Given the description of an element on the screen output the (x, y) to click on. 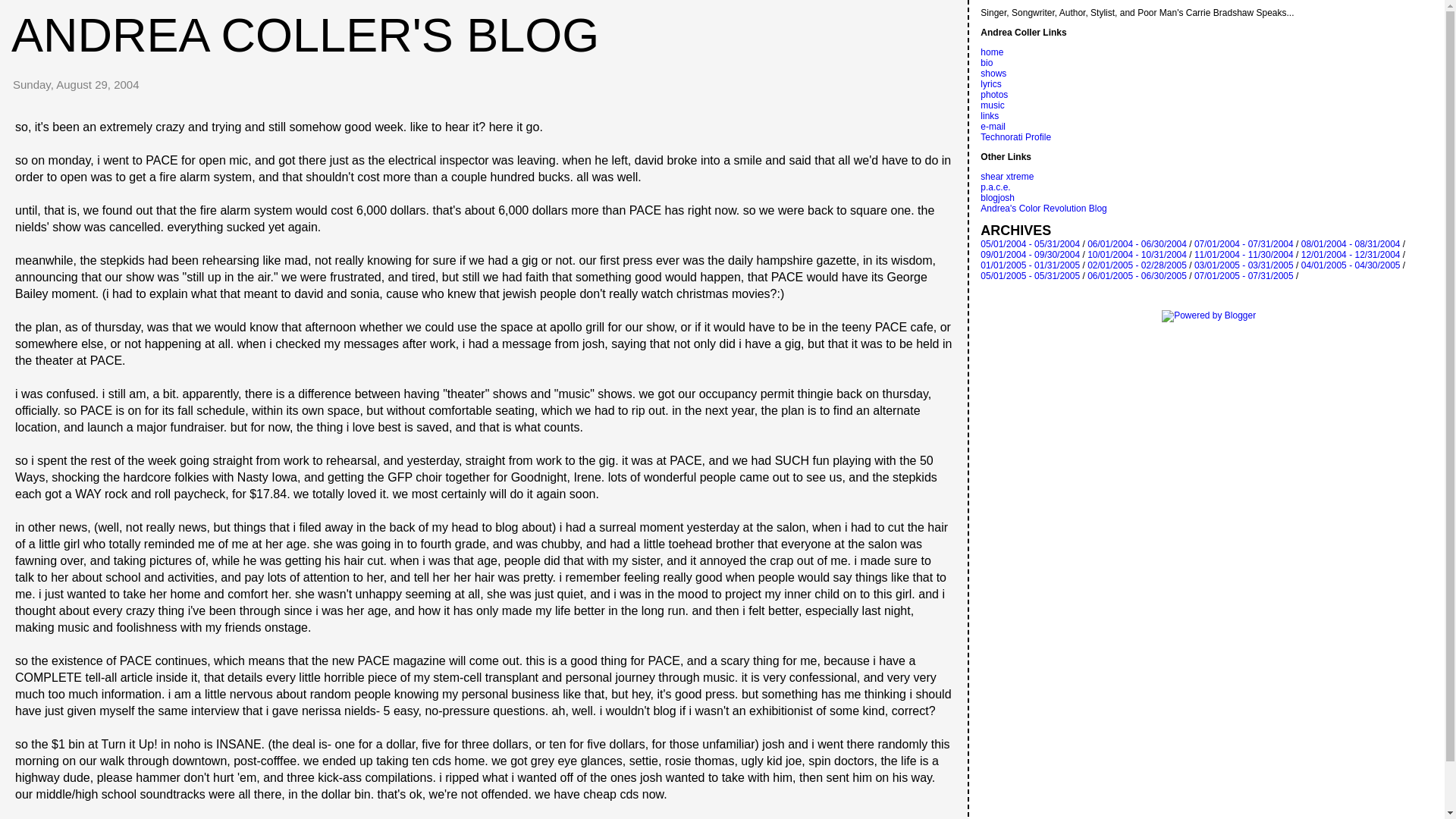
shear xtreme (1006, 176)
bio (985, 62)
music (991, 104)
photos (993, 94)
blogjosh (996, 197)
home (991, 51)
e-mail (992, 126)
Technorati Profile (1015, 136)
links (988, 115)
Andrea's Color Revolution Blog (1042, 208)
p.a.c.e. (994, 186)
lyrics (990, 83)
shows (992, 72)
